Given the description of an element on the screen output the (x, y) to click on. 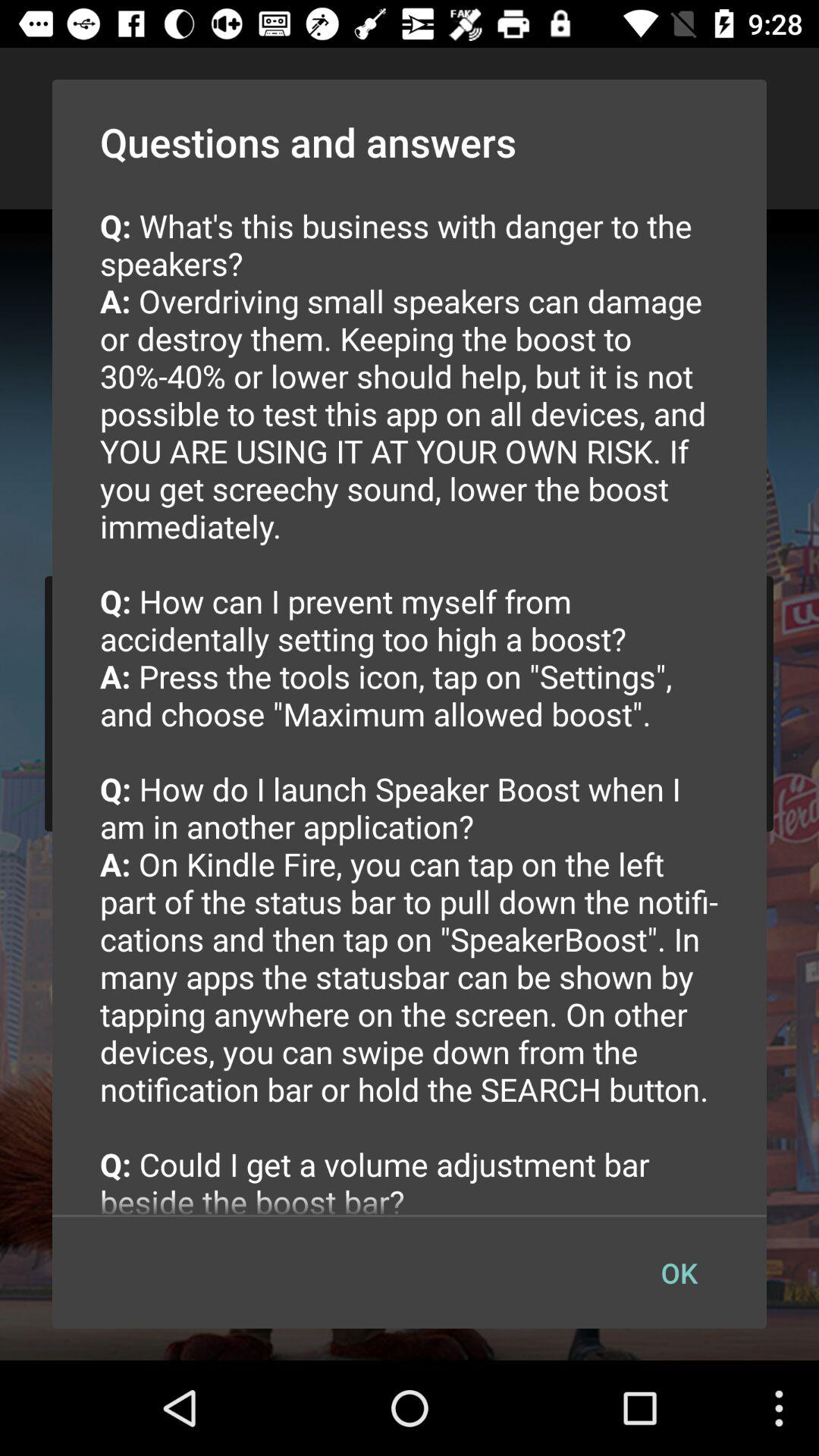
select the ok button (678, 1272)
